Given the description of an element on the screen output the (x, y) to click on. 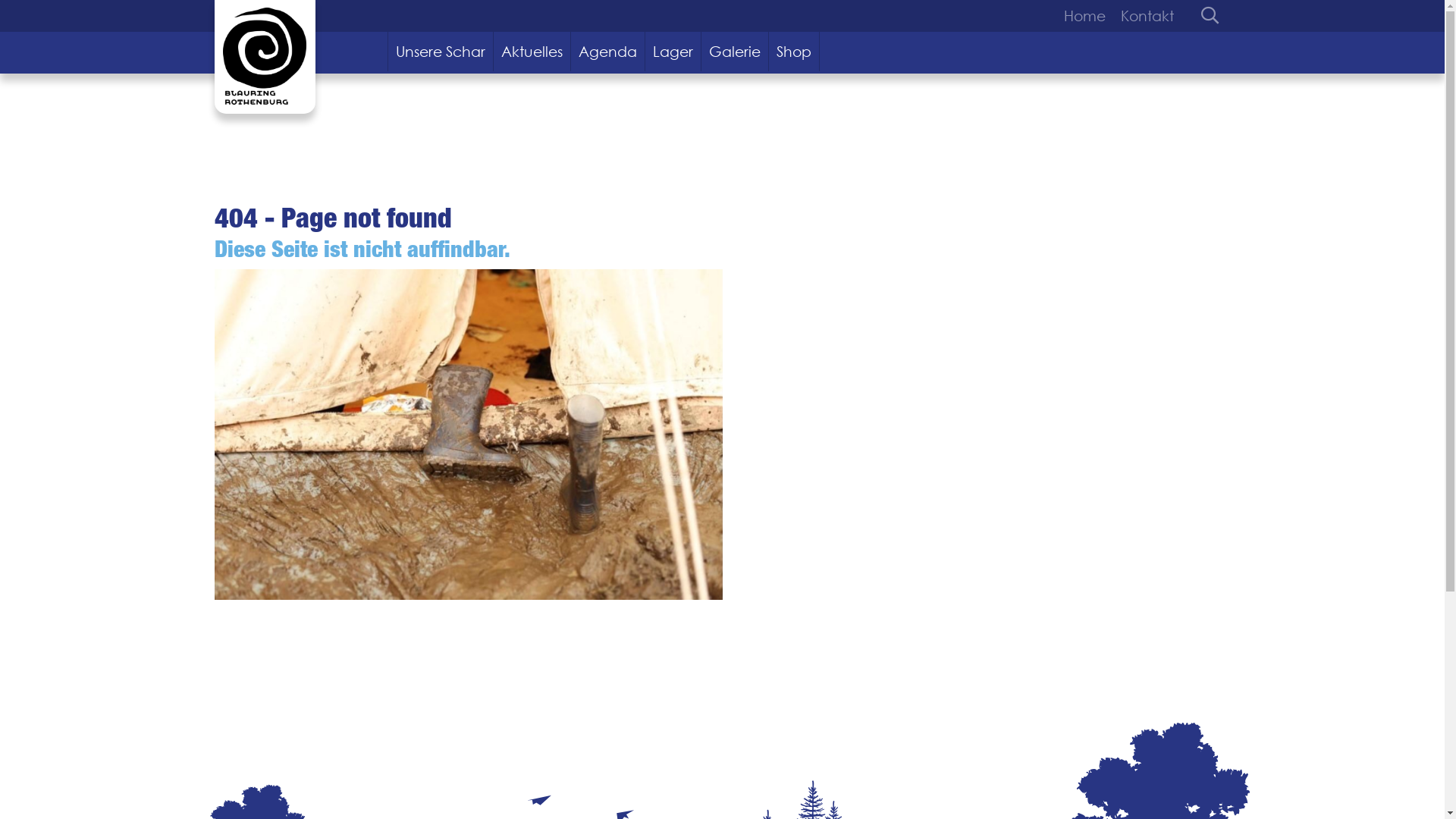
Blauring Rothenburg Element type: hover (264, 56)
Galerie Element type: text (734, 51)
Aktuelles Element type: text (532, 51)
Shop Element type: text (793, 51)
Kontakt Element type: text (1143, 15)
Agenda Element type: text (608, 51)
Lager Element type: text (673, 51)
Unsere Schar Element type: text (440, 51)
Home Element type: text (1087, 15)
404 - Page not found Element type: hover (467, 434)
